Given the description of an element on the screen output the (x, y) to click on. 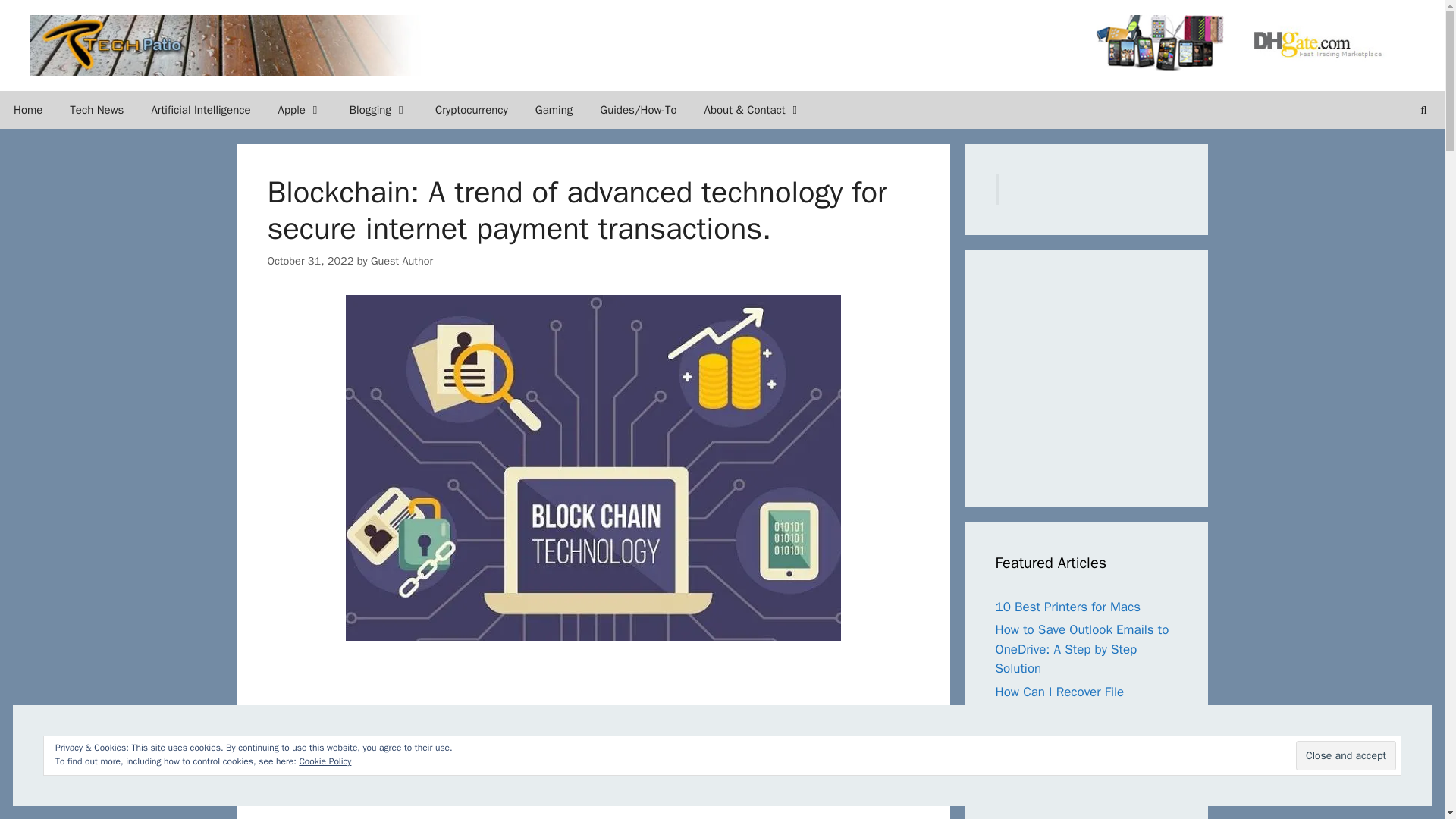
Buy cell phones and phone accessories on DHgate.com (1254, 42)
Artificial Intelligence (199, 109)
Advertisement (1108, 375)
Blogging (379, 109)
Tech News (96, 109)
Apple (300, 109)
Home (28, 109)
Advertisement (393, 737)
Close and accept (1345, 755)
View all posts by Guest Author (401, 260)
